Given the description of an element on the screen output the (x, y) to click on. 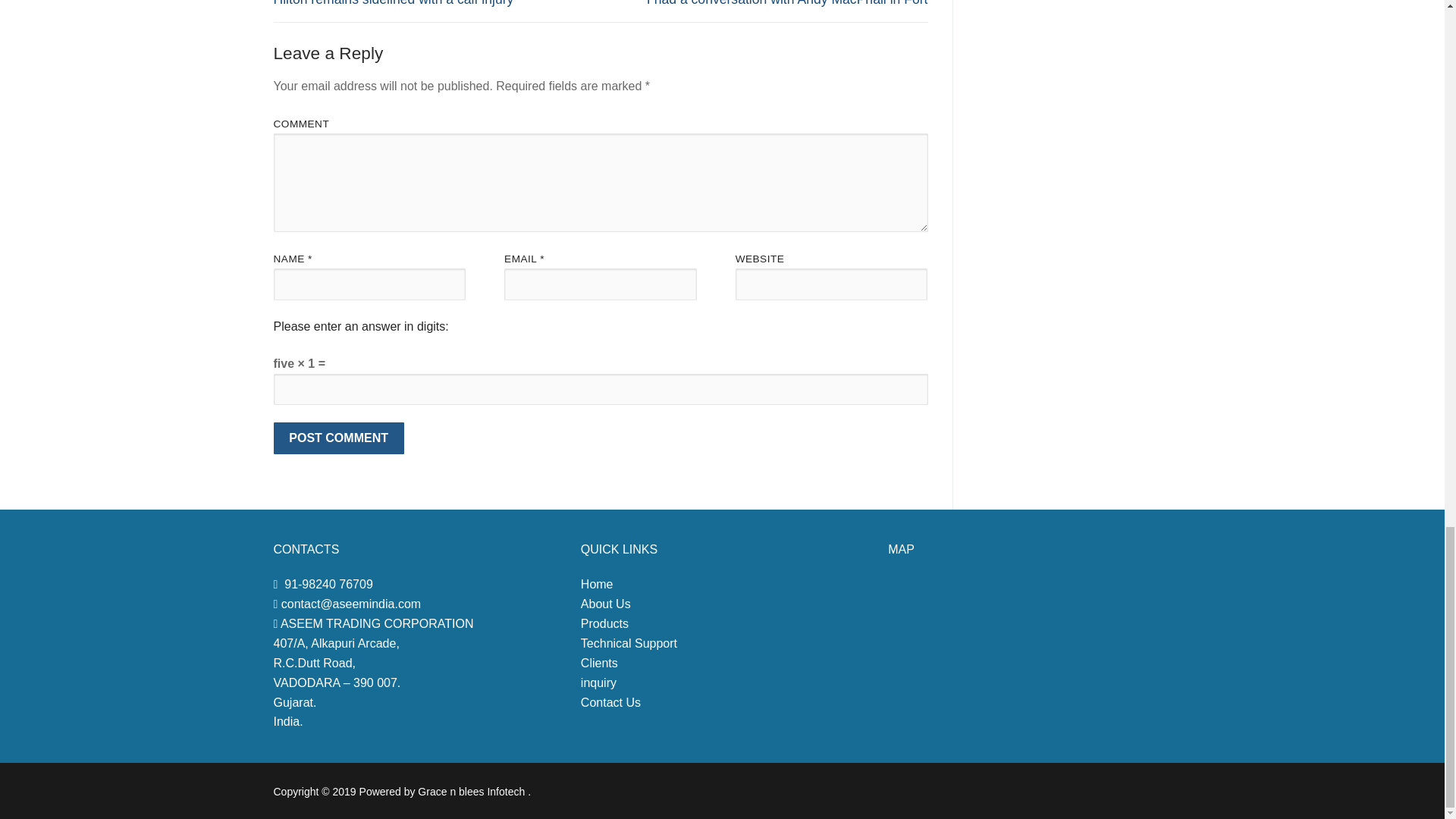
Post Comment (338, 438)
Post Comment (338, 438)
